Given the description of an element on the screen output the (x, y) to click on. 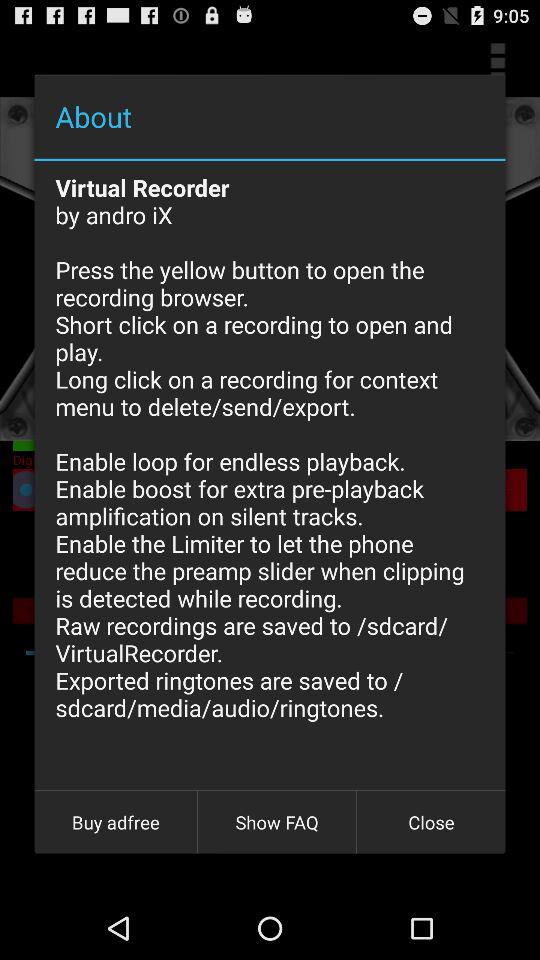
tap buy adfree at the bottom left corner (115, 821)
